Given the description of an element on the screen output the (x, y) to click on. 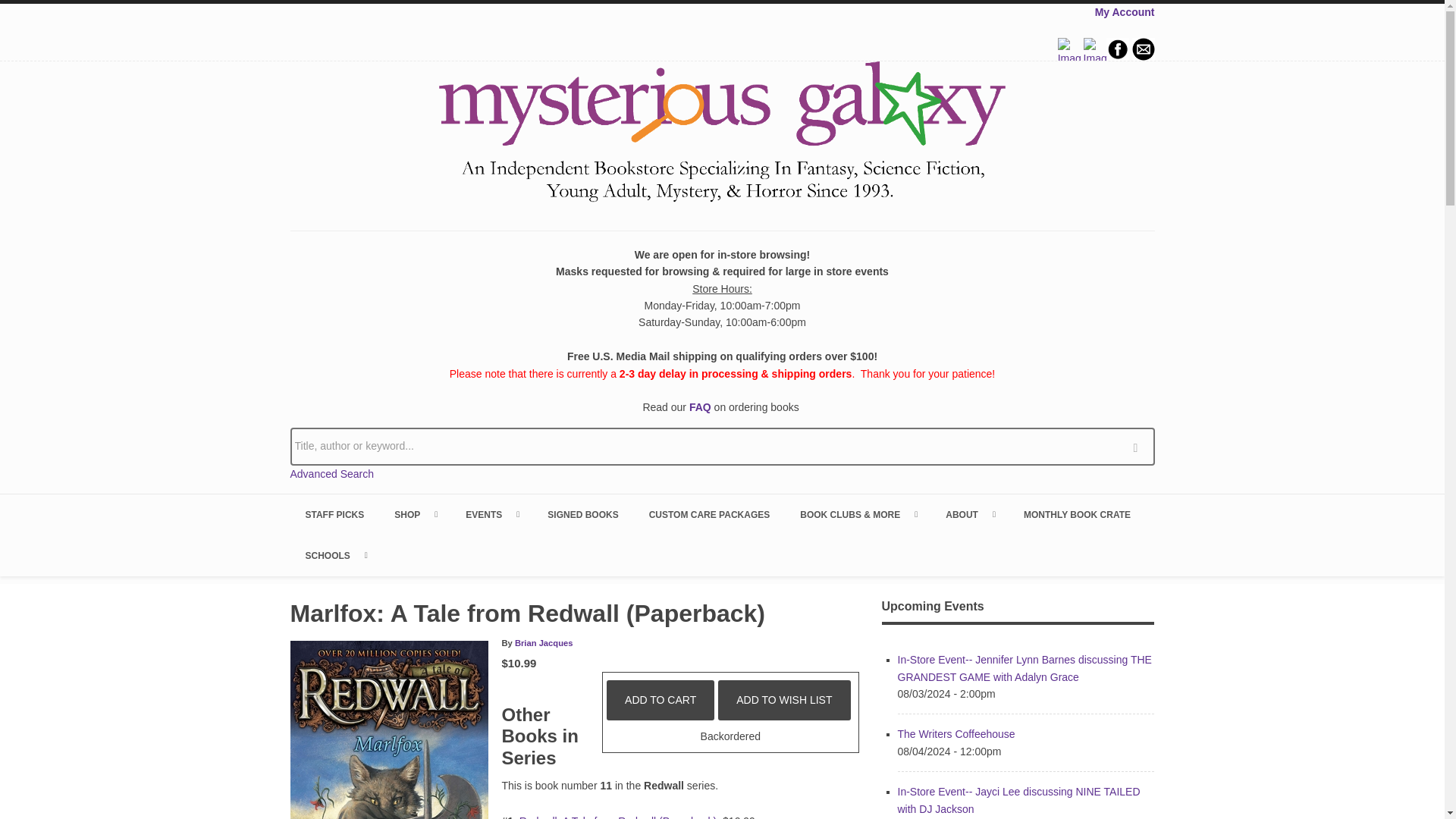
Add to Cart (660, 699)
Home (722, 134)
SHOP (413, 514)
EVENTS (490, 514)
Title, author or keyword... (721, 446)
Add to Wish List (783, 699)
STAFF PICKS (333, 514)
My Account (1124, 11)
Advanced Search (331, 473)
FAQ (699, 407)
